Given the description of an element on the screen output the (x, y) to click on. 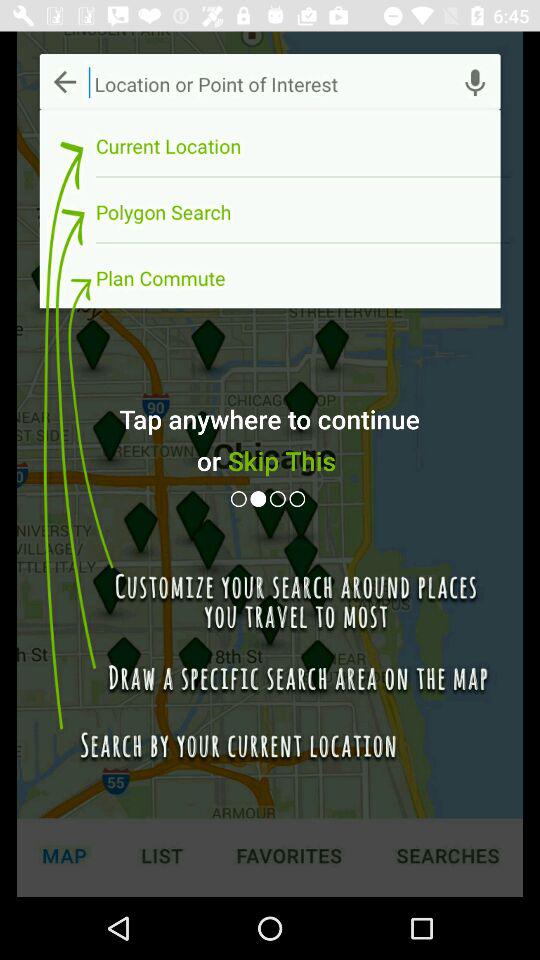
tap to continue (279, 498)
